Given the description of an element on the screen output the (x, y) to click on. 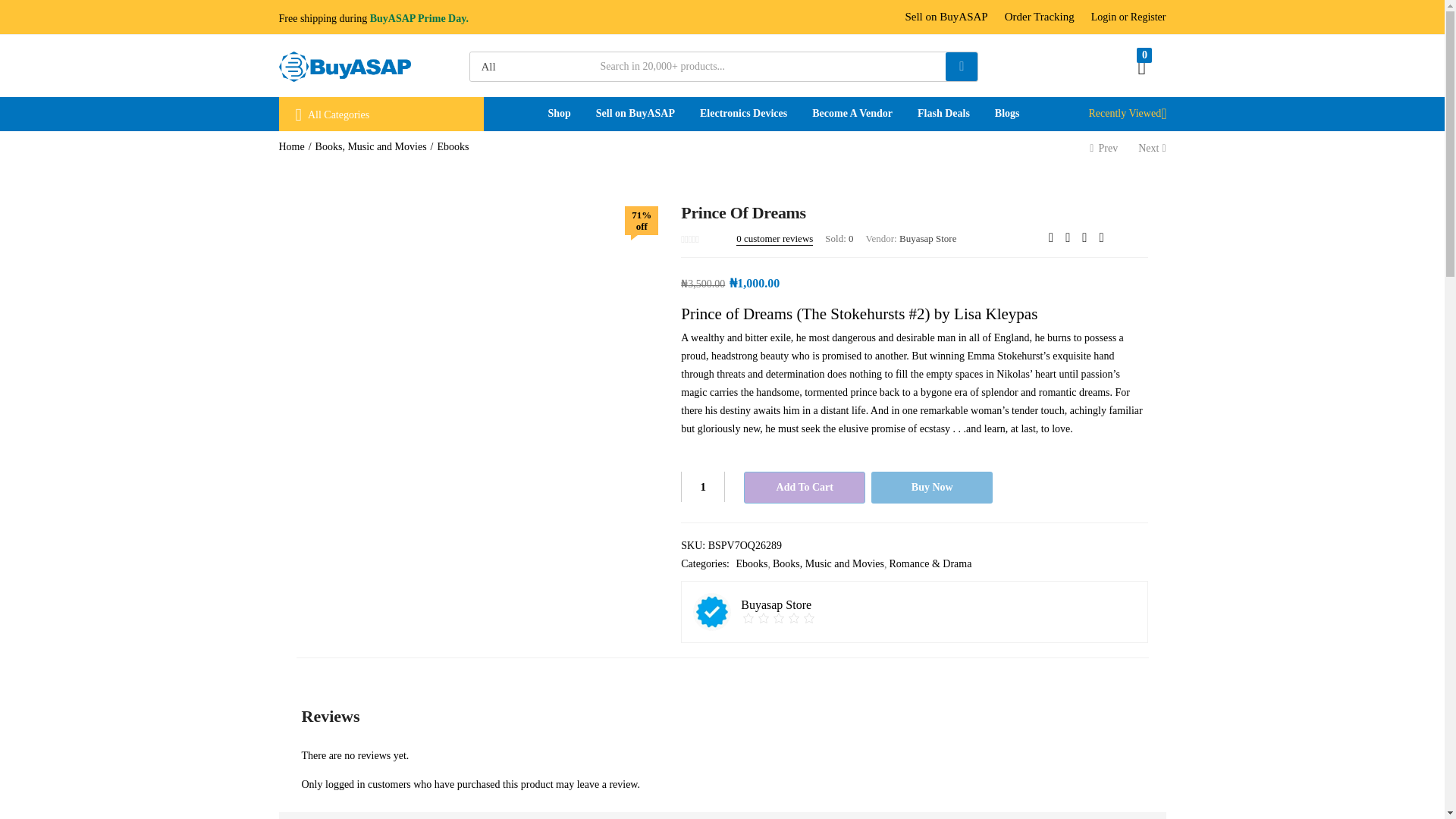
Login or Register (1128, 17)
Sell on BuyASAP (945, 16)
Order Tracking (1039, 16)
1 (703, 486)
